Given the description of an element on the screen output the (x, y) to click on. 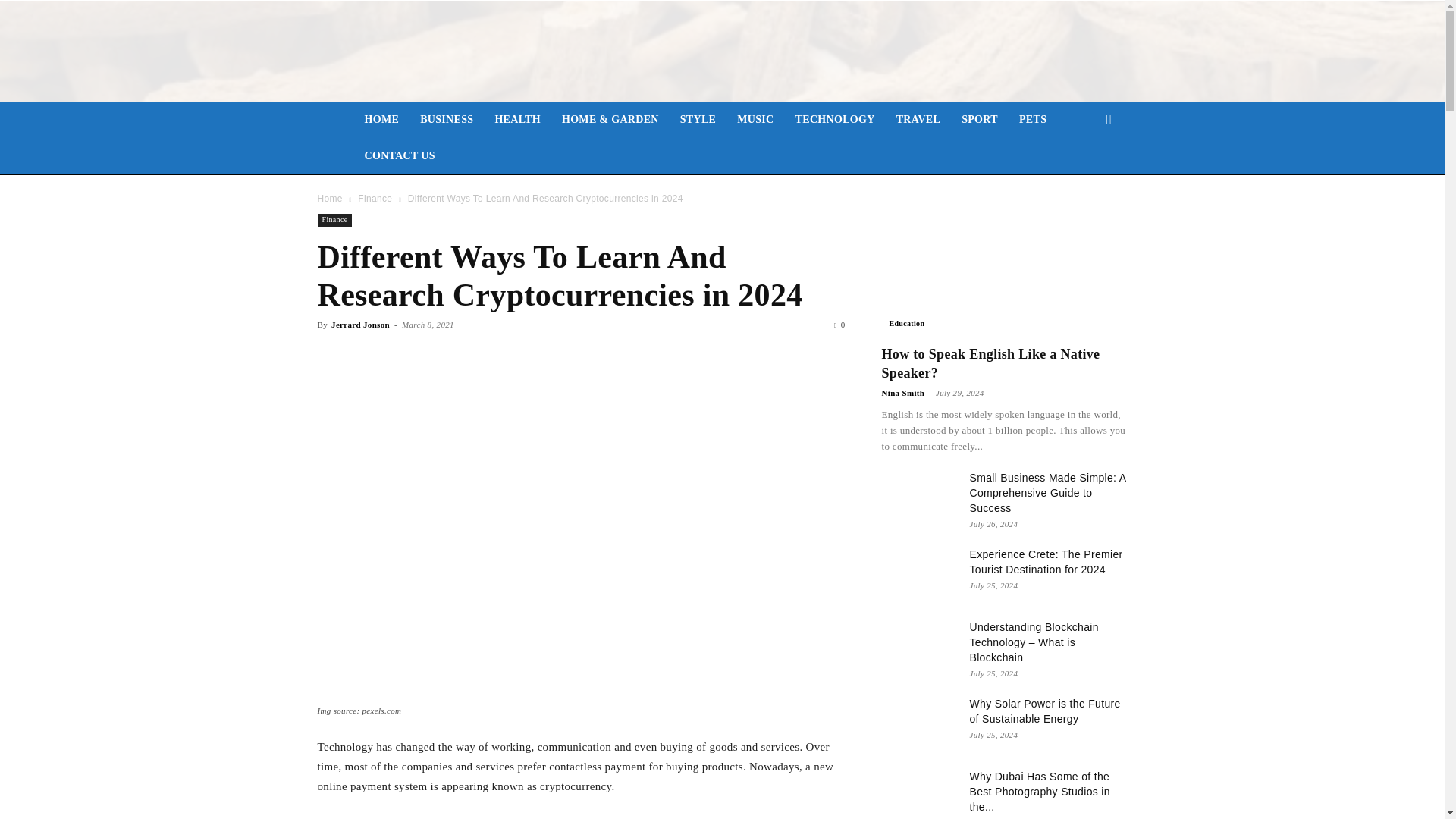
HOME (381, 119)
0 (839, 324)
TRAVEL (917, 119)
MUSIC (755, 119)
CONTACT US (399, 156)
Jerrard Jonson (360, 324)
BUSINESS (446, 119)
HEALTH (517, 119)
Home (329, 198)
View all posts in Finance (374, 198)
PETS (1033, 119)
Finance (374, 198)
STYLE (697, 119)
Search (1085, 180)
TECHNOLOGY (834, 119)
